Given the description of an element on the screen output the (x, y) to click on. 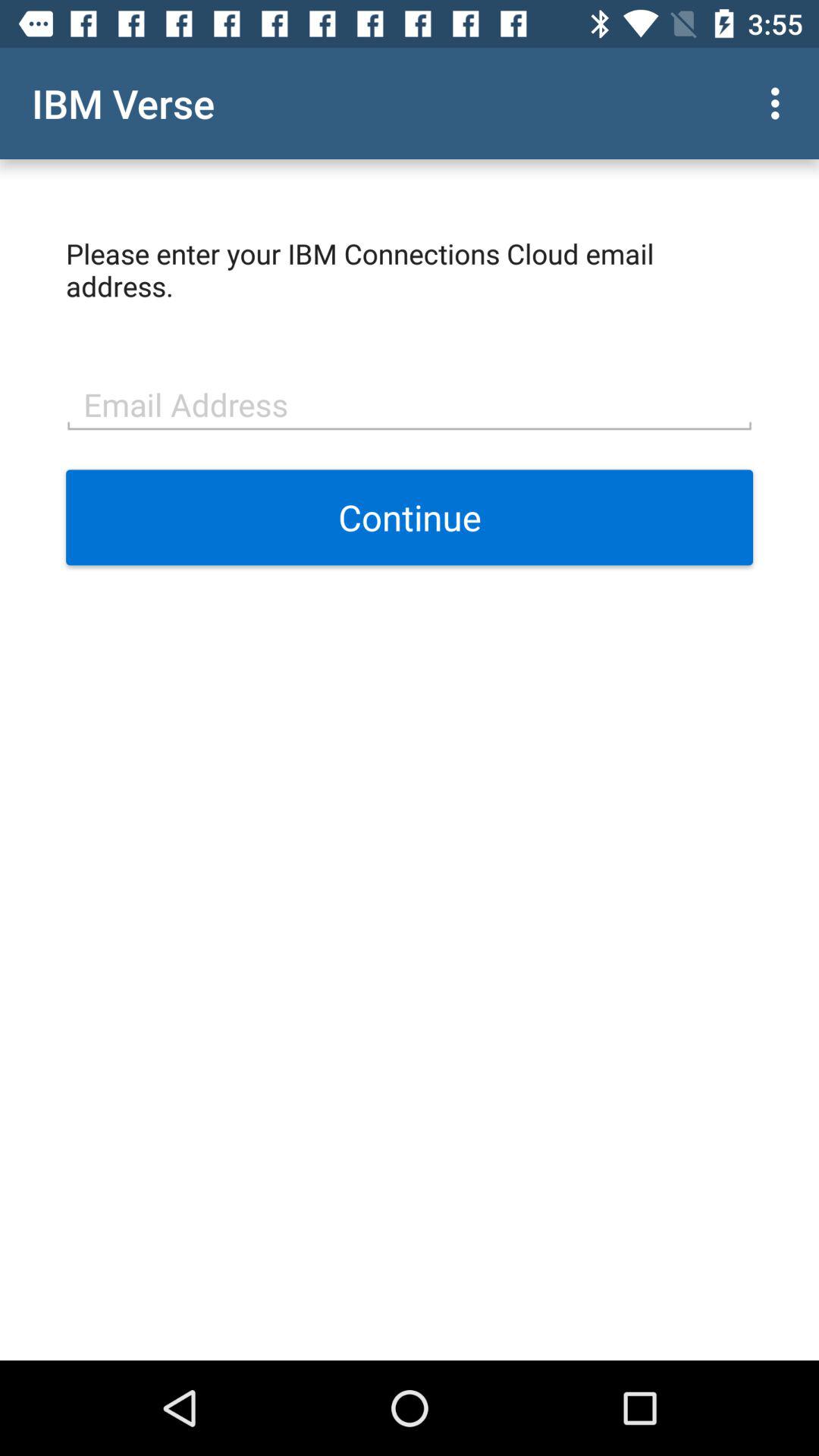
select icon at the top right corner (779, 103)
